Given the description of an element on the screen output the (x, y) to click on. 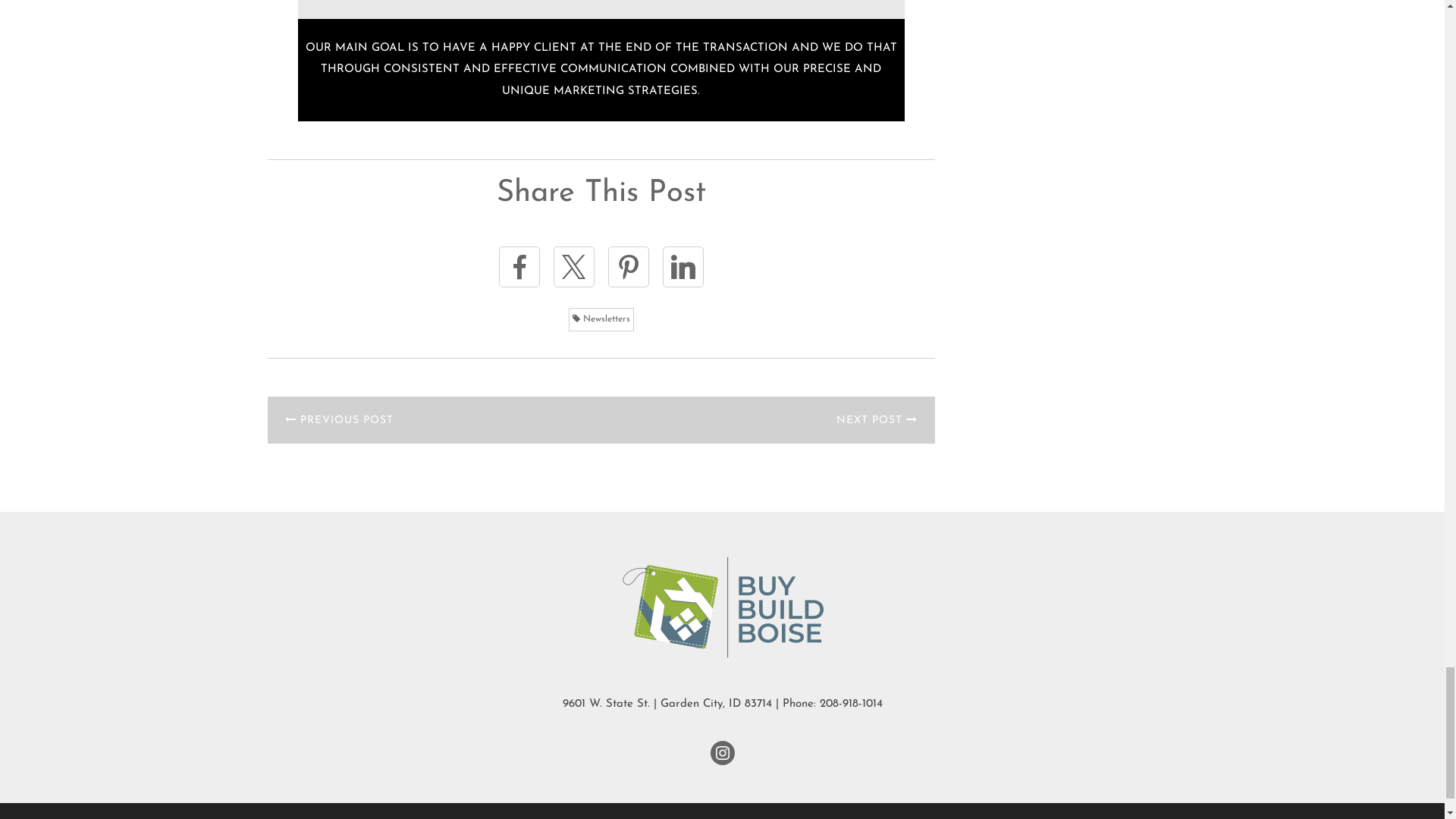
Share on X (573, 266)
Visit me on Instagram (722, 753)
Share on Facebook (519, 266)
Share on Linked In (682, 266)
Share on Pinterest (628, 266)
